Given the description of an element on the screen output the (x, y) to click on. 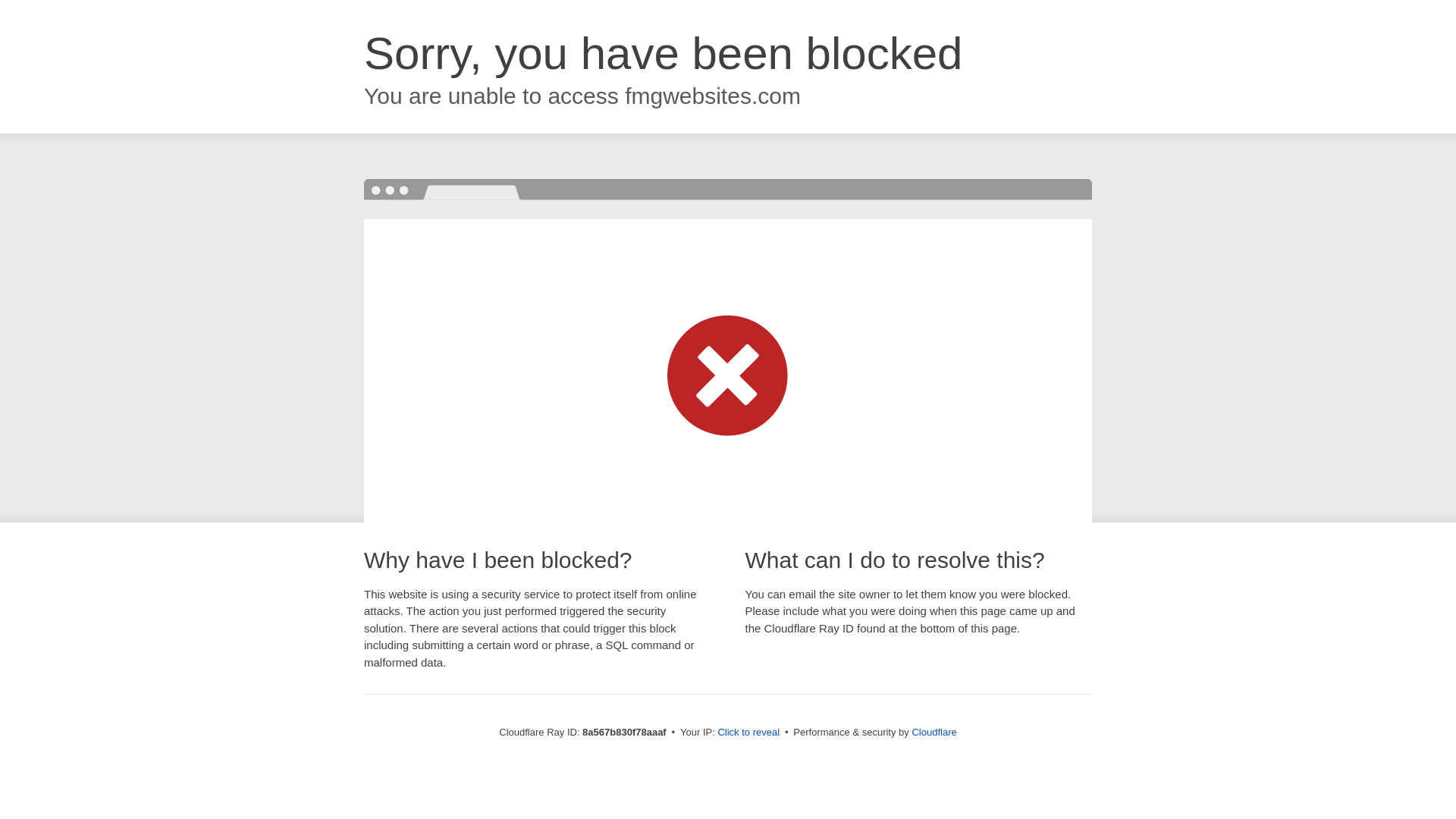
Cloudflare (933, 731)
Click to reveal (747, 732)
